Given the description of an element on the screen output the (x, y) to click on. 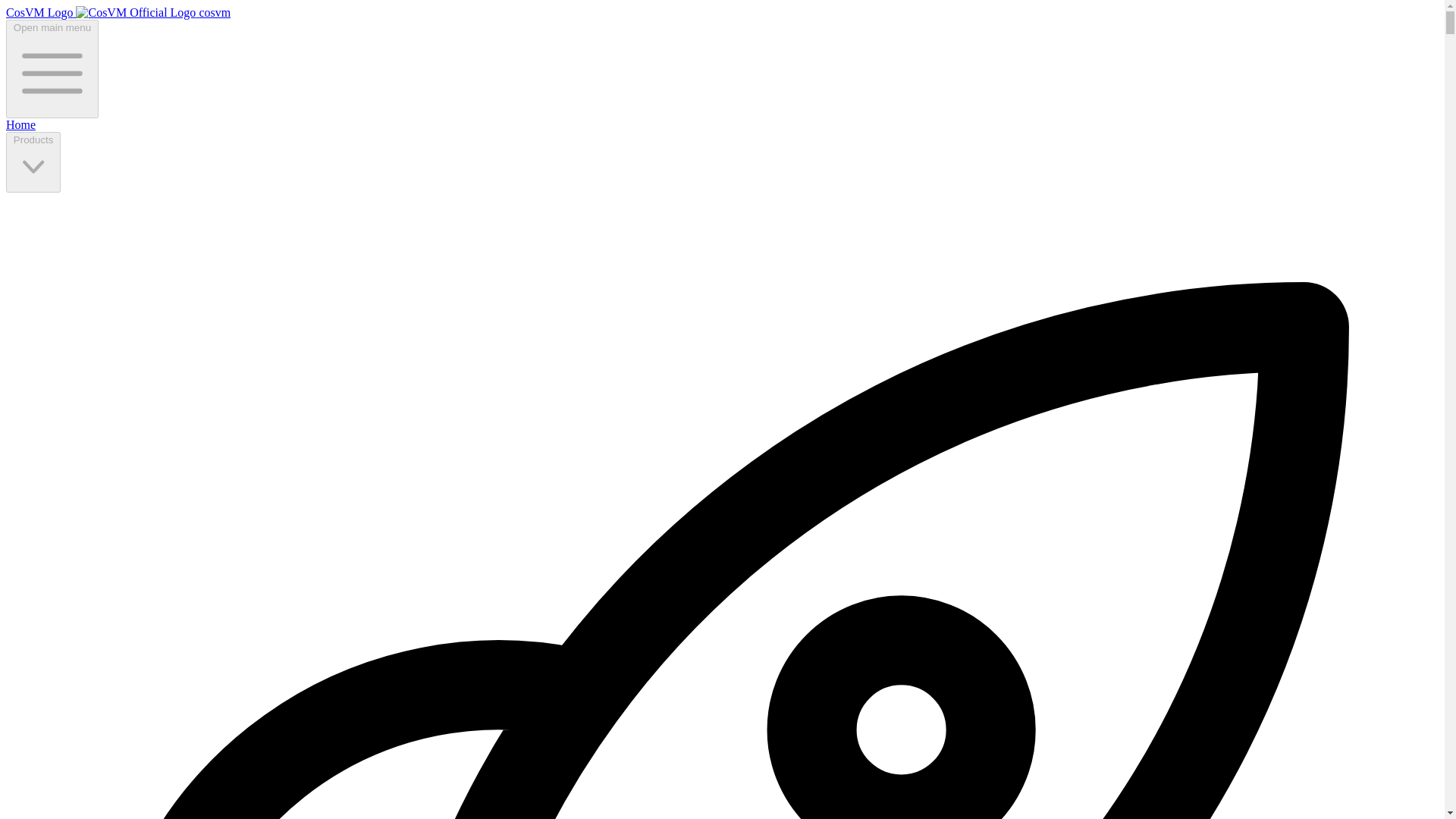
Home (19, 124)
Home (19, 124)
CosVM Network (135, 12)
CosVM Logo cosvm (117, 11)
Products (33, 161)
CosVM Network (117, 11)
Open main menu (52, 68)
